Given the description of an element on the screen output the (x, y) to click on. 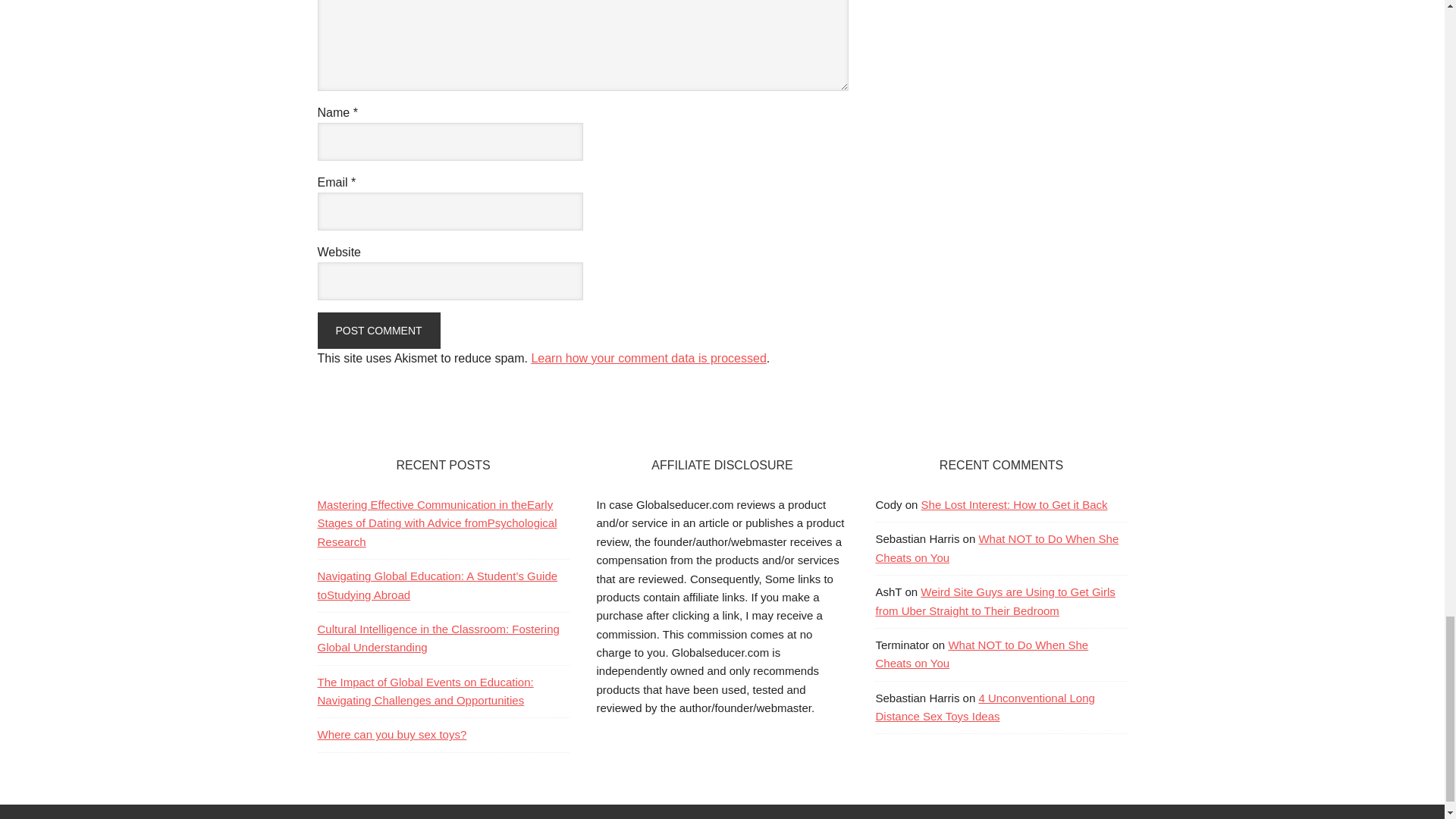
Learn how your comment data is processed (648, 358)
Post Comment (378, 330)
What NOT to Do When She Cheats on You (981, 653)
4 Unconventional Long Distance Sex Toys Ideas (984, 706)
She Lost Interest: How to Get it Back (1014, 504)
Post Comment (378, 330)
What NOT to Do When She Cheats on You (996, 547)
Where can you buy sex toys? (391, 734)
